Given the description of an element on the screen output the (x, y) to click on. 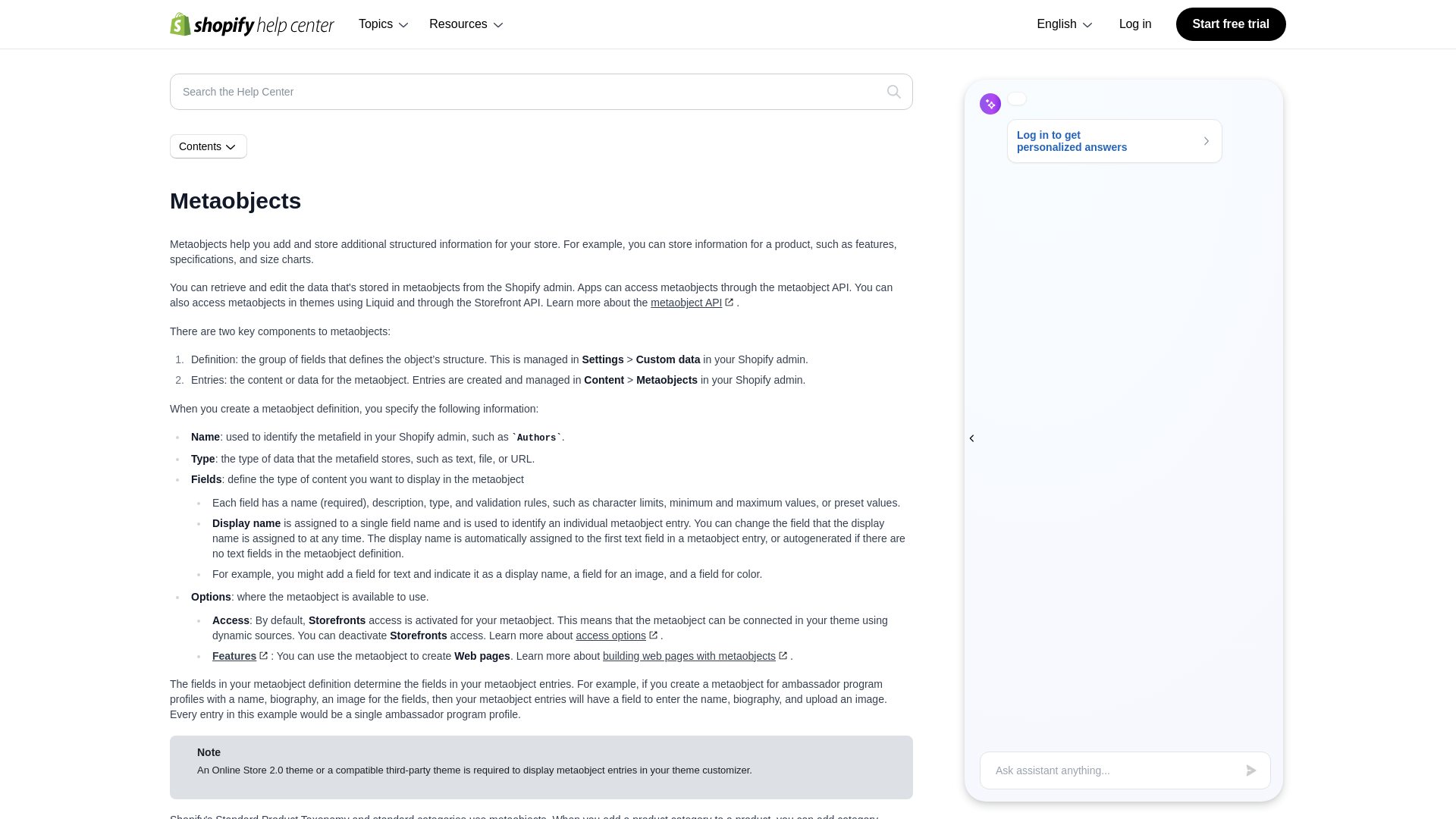
Topics (384, 24)
Start free trial (1230, 23)
building web pages with metaobjects (696, 655)
English (1065, 24)
Contents (208, 146)
access options (617, 635)
Log in (1135, 23)
Resources (467, 24)
Features (241, 655)
